Given the description of an element on the screen output the (x, y) to click on. 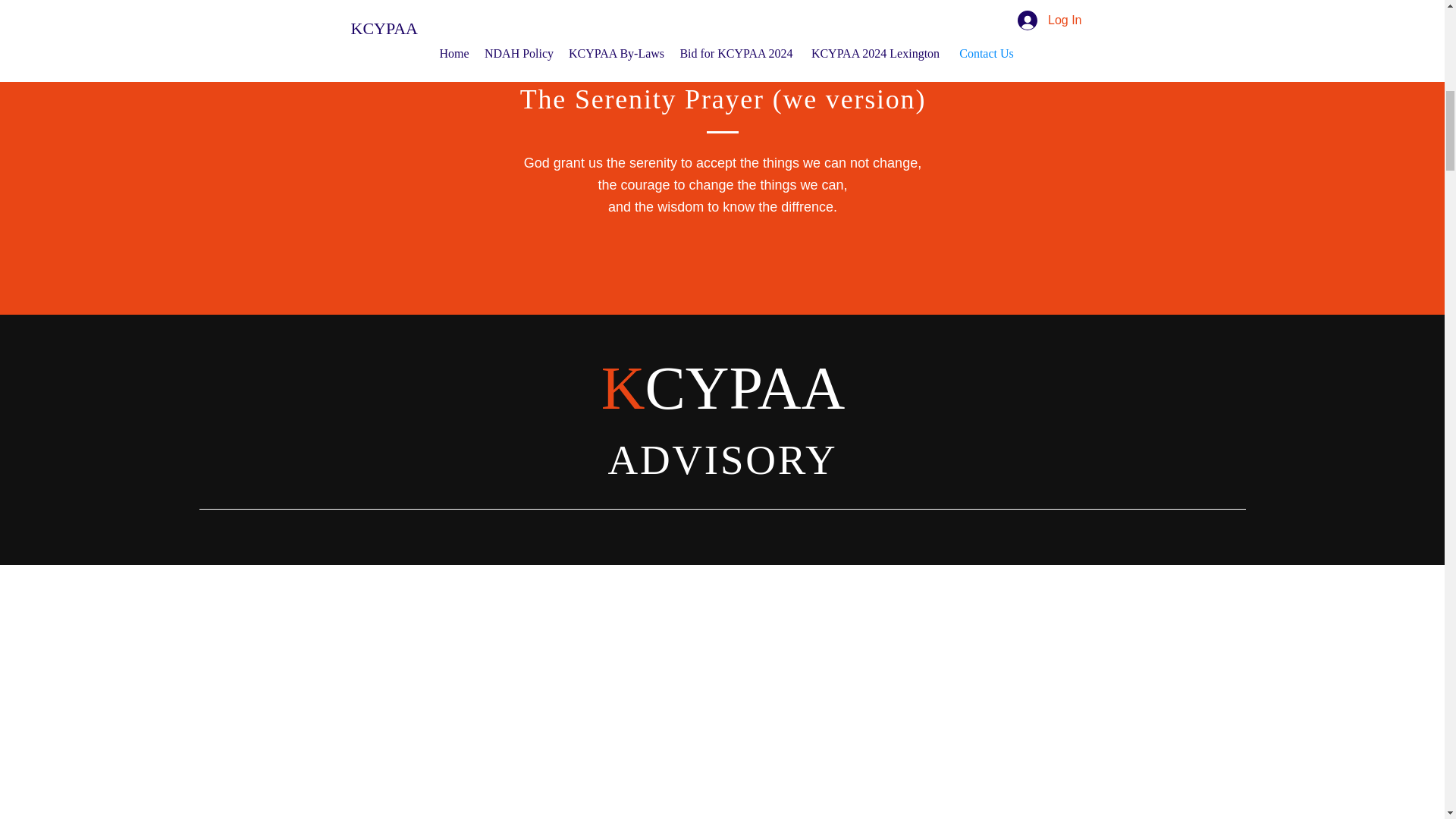
ADVISORY (722, 459)
CYPAA (744, 387)
K (623, 387)
